Given the description of an element on the screen output the (x, y) to click on. 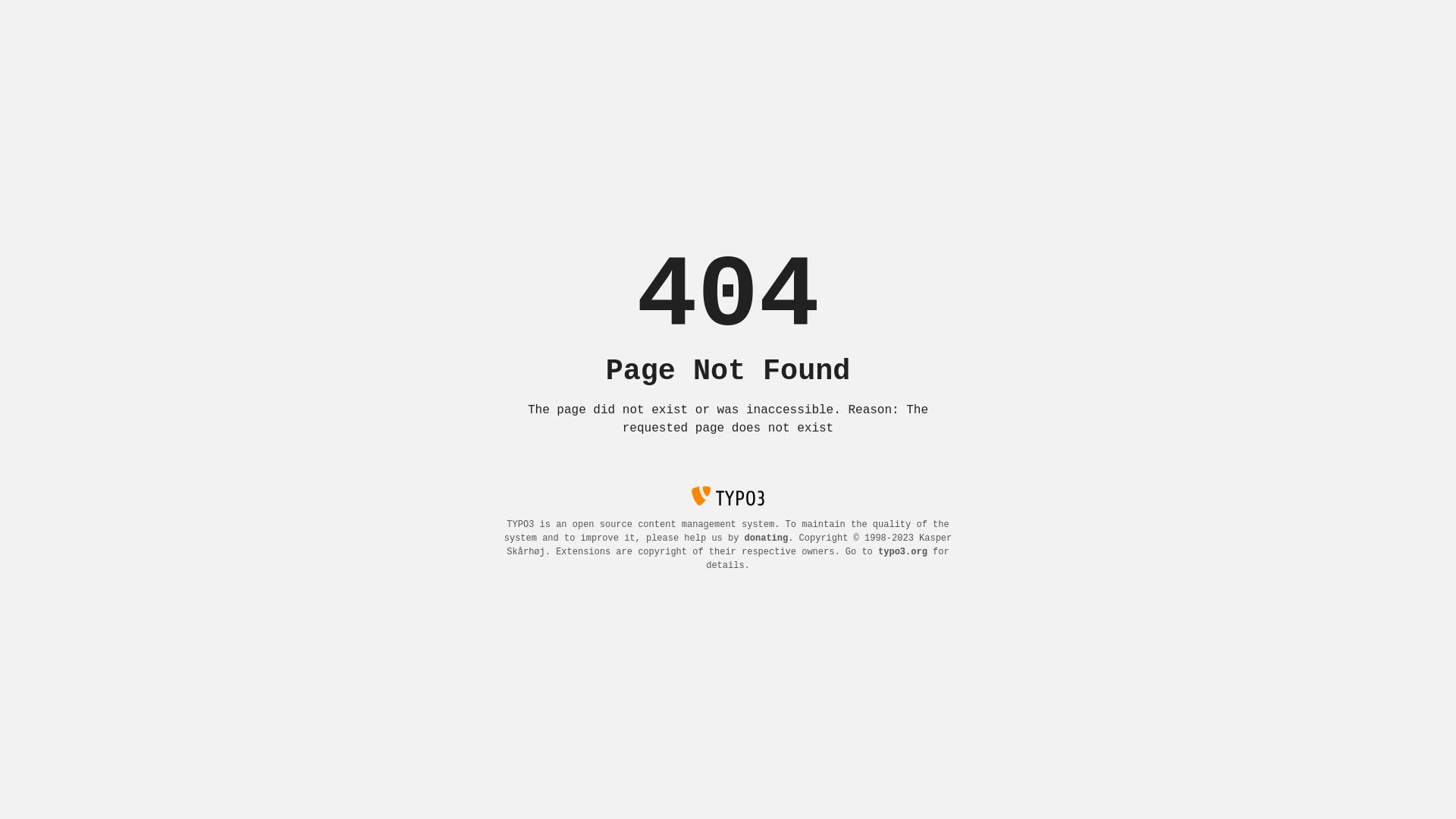
donating Element type: text (766, 538)
typo3.org Element type: text (902, 551)
